Given the description of an element on the screen output the (x, y) to click on. 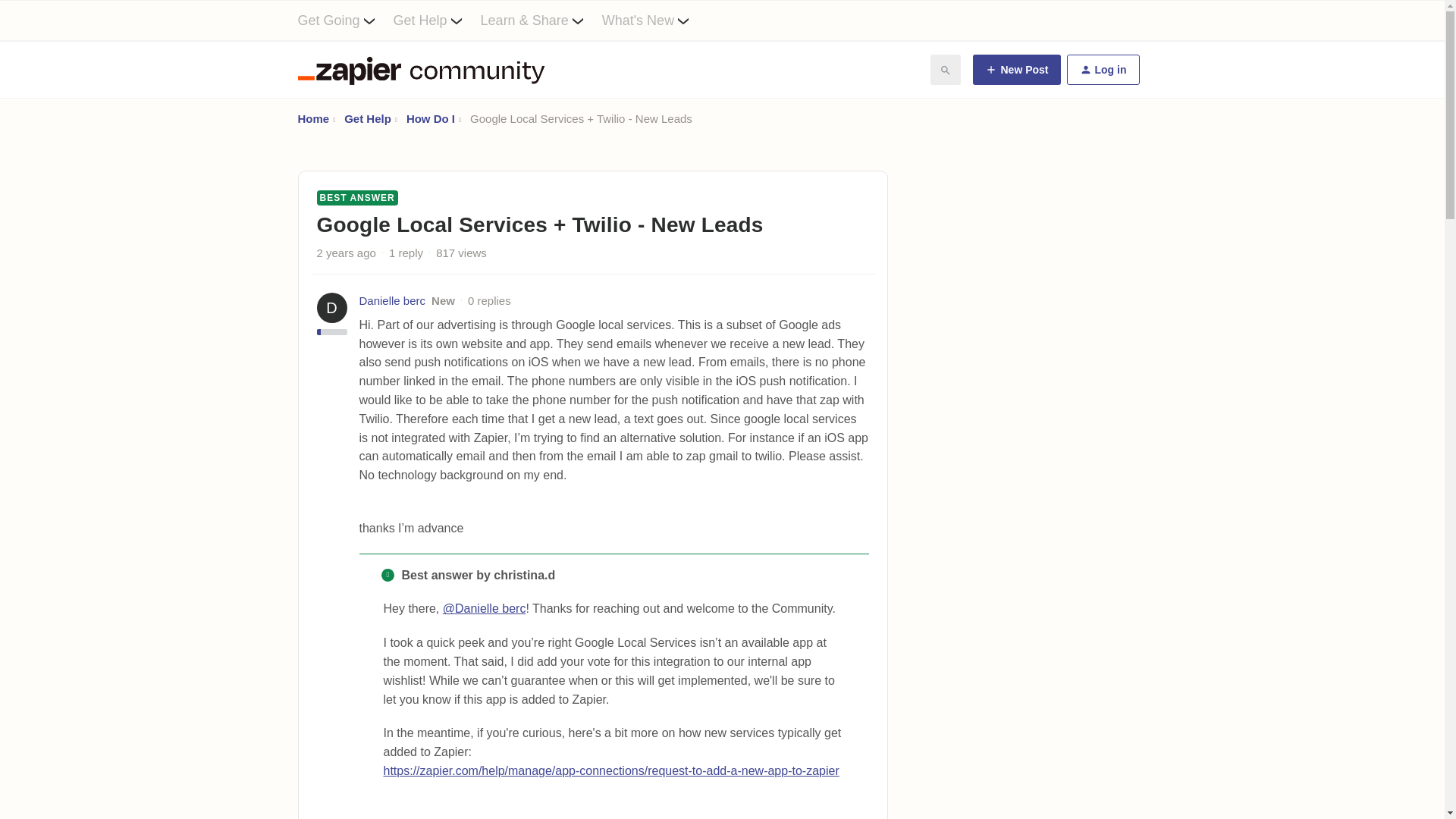
Get Help (436, 20)
Danielle berc (392, 301)
Get Going (345, 20)
What's New (654, 20)
New Post (1015, 69)
Log in (1101, 69)
Get Help (367, 118)
Home (313, 118)
New Post (1015, 69)
